Given the description of an element on the screen output the (x, y) to click on. 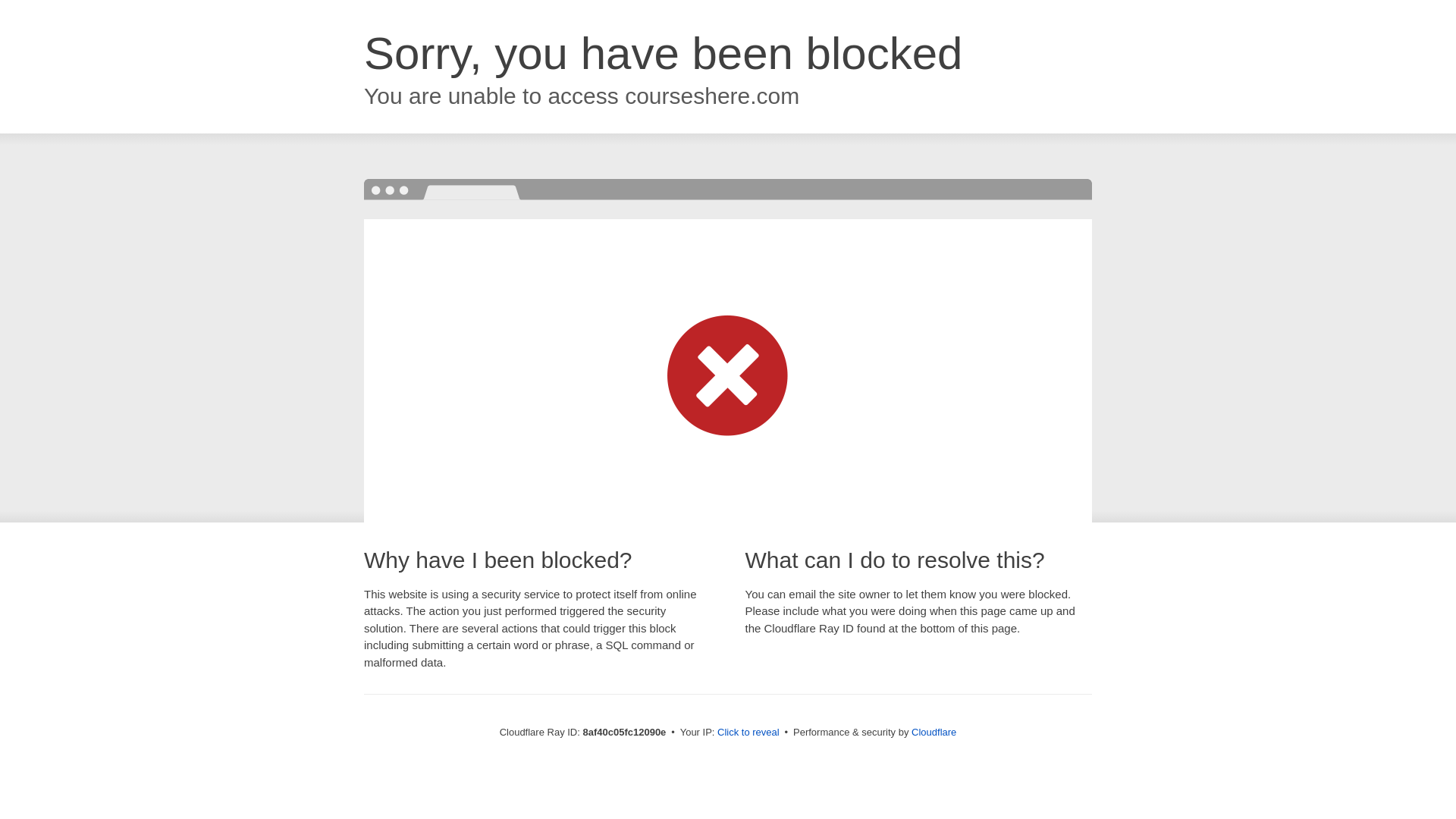
Click to reveal (747, 732)
Cloudflare (933, 731)
